Given the description of an element on the screen output the (x, y) to click on. 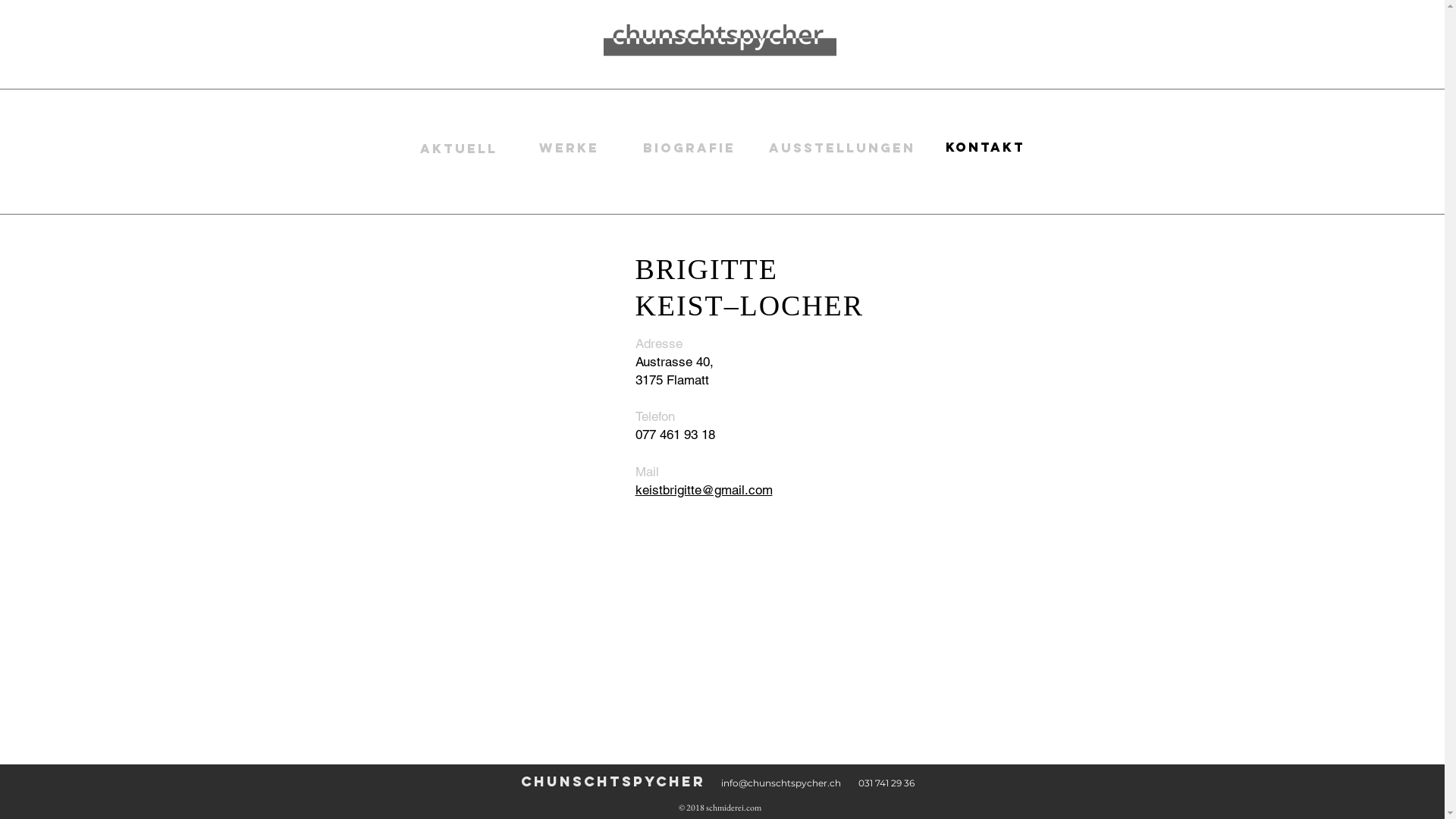
info@chunschtspycher.ch Element type: text (780, 782)
Kontakt Element type: text (984, 147)
Ausstellungen Element type: text (841, 147)
AKTUELL Element type: text (458, 148)
keistbrigitte@gmail.com Element type: text (703, 489)
WERKE Element type: text (569, 147)
BIOGRAFIE Element type: text (688, 147)
